Given the description of an element on the screen output the (x, y) to click on. 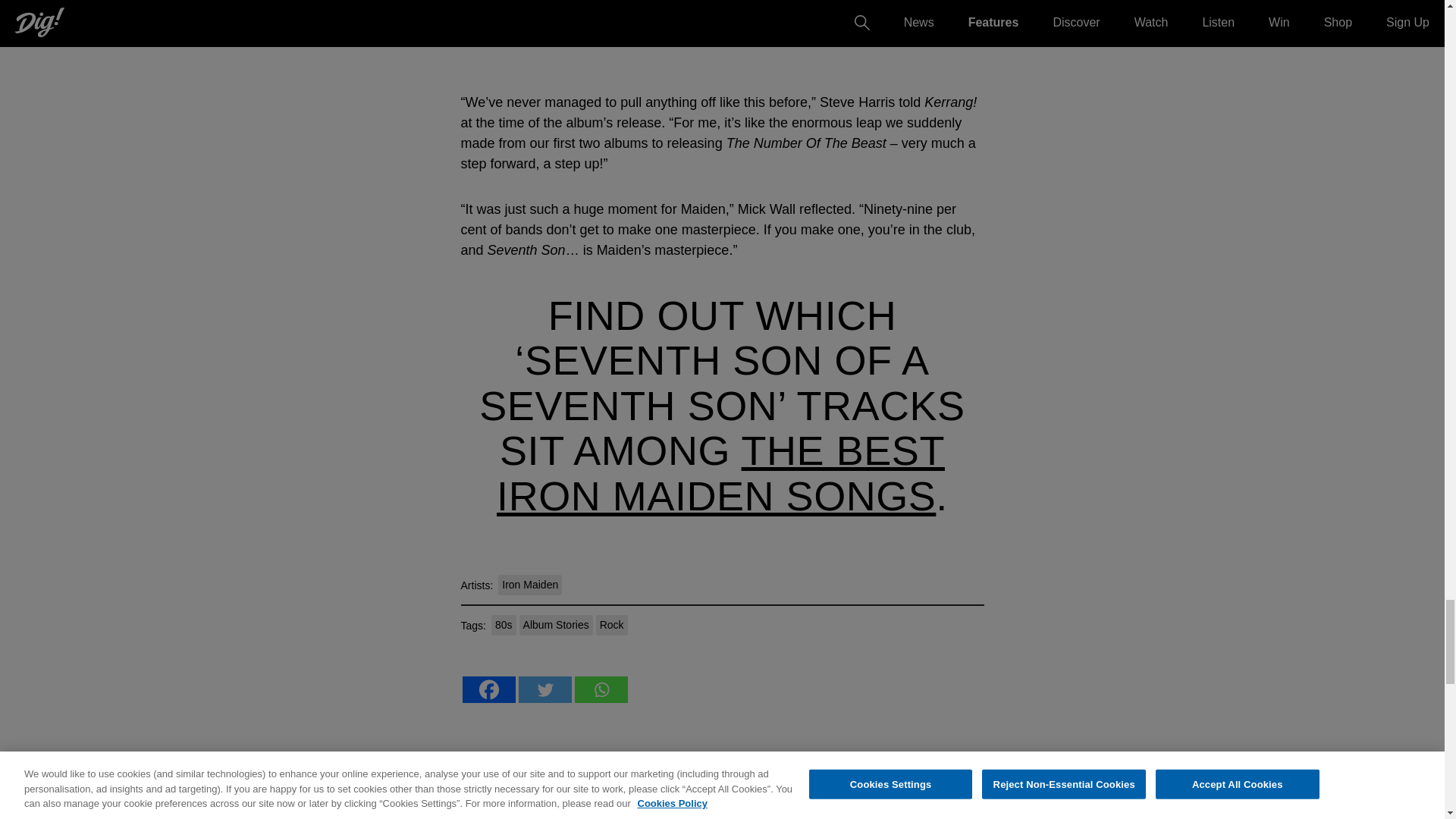
Iron Maiden (529, 584)
Twitter (545, 689)
Whatsapp (601, 689)
80s (504, 625)
THE BEST IRON MAIDEN SONGS (720, 472)
Facebook (489, 689)
Album Stories (555, 625)
Rock (611, 625)
